Given the description of an element on the screen output the (x, y) to click on. 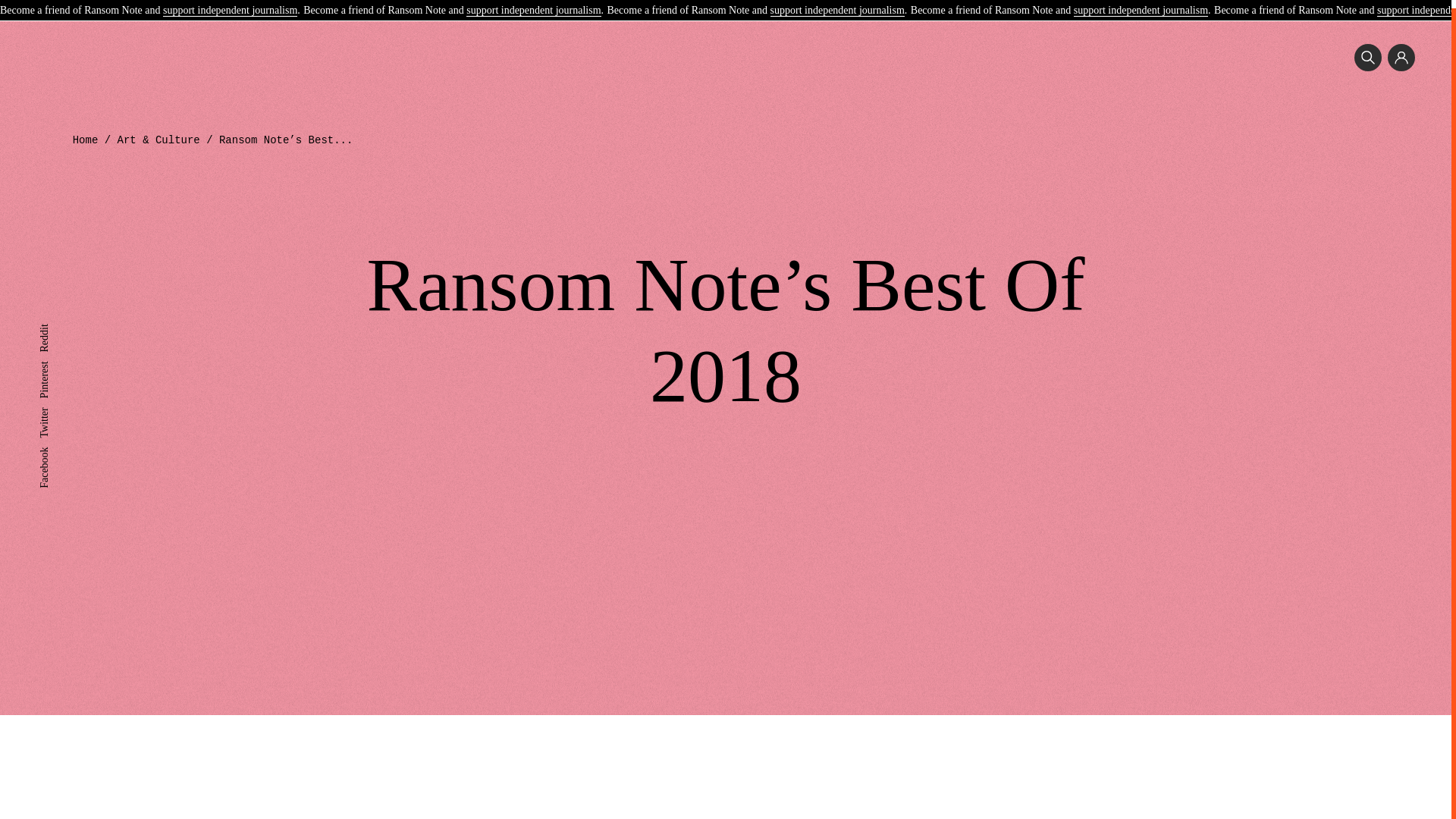
Pinterest (57, 358)
Twitter (53, 404)
Home (85, 140)
Facebook (59, 444)
support independent journalism (532, 4)
support independent journalism (837, 4)
Reddit (52, 321)
support independent journalism (230, 4)
support independent journalism (1141, 4)
